Given the description of an element on the screen output the (x, y) to click on. 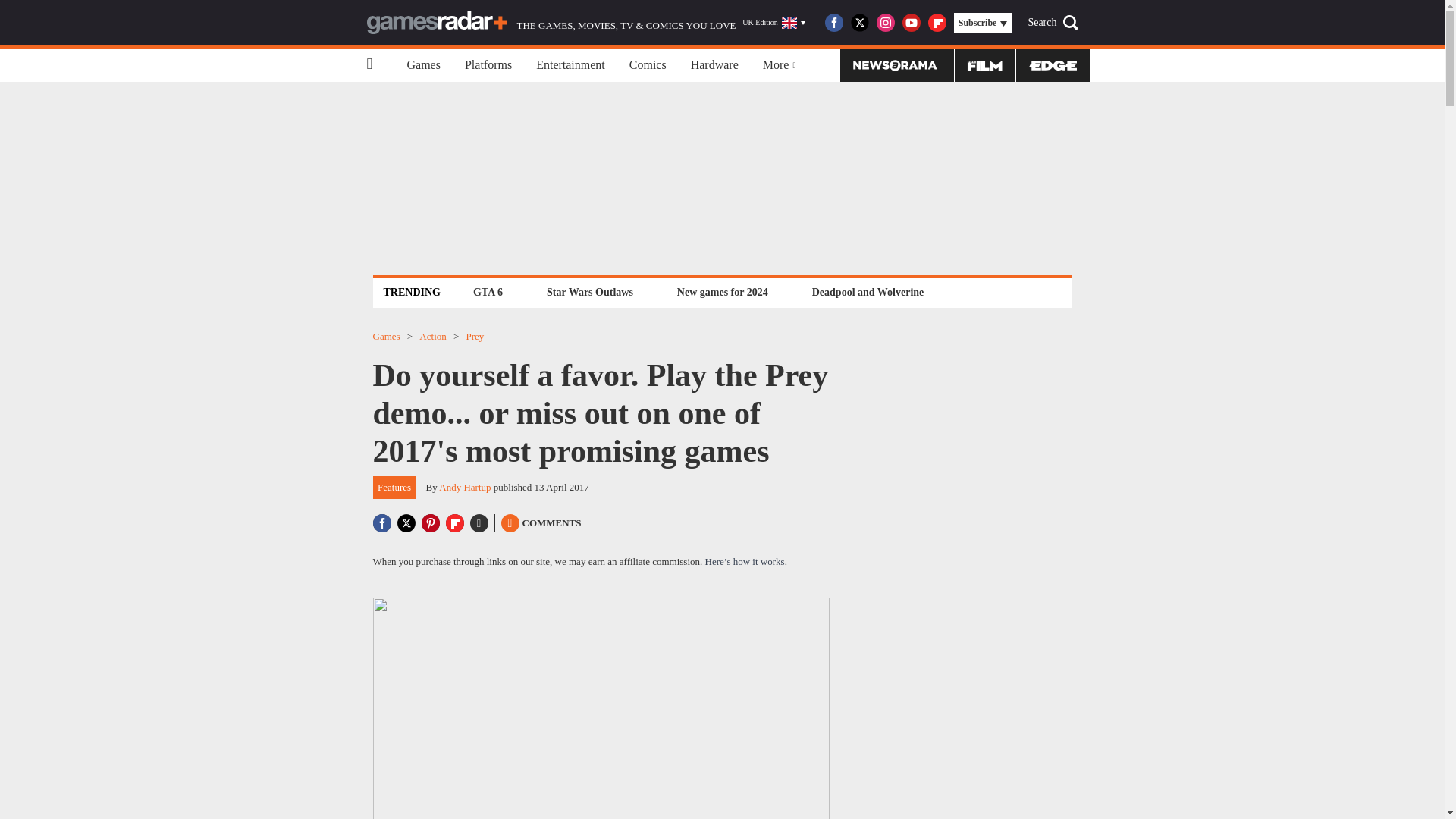
Deadpool and Wolverine (868, 292)
Games (422, 64)
GTA 6 (487, 292)
Comics (647, 64)
Hardware (714, 64)
UK Edition (773, 22)
Star Wars Outlaws (590, 292)
New games for 2024 (722, 292)
Entertainment (570, 64)
Platforms (488, 64)
